Given the description of an element on the screen output the (x, y) to click on. 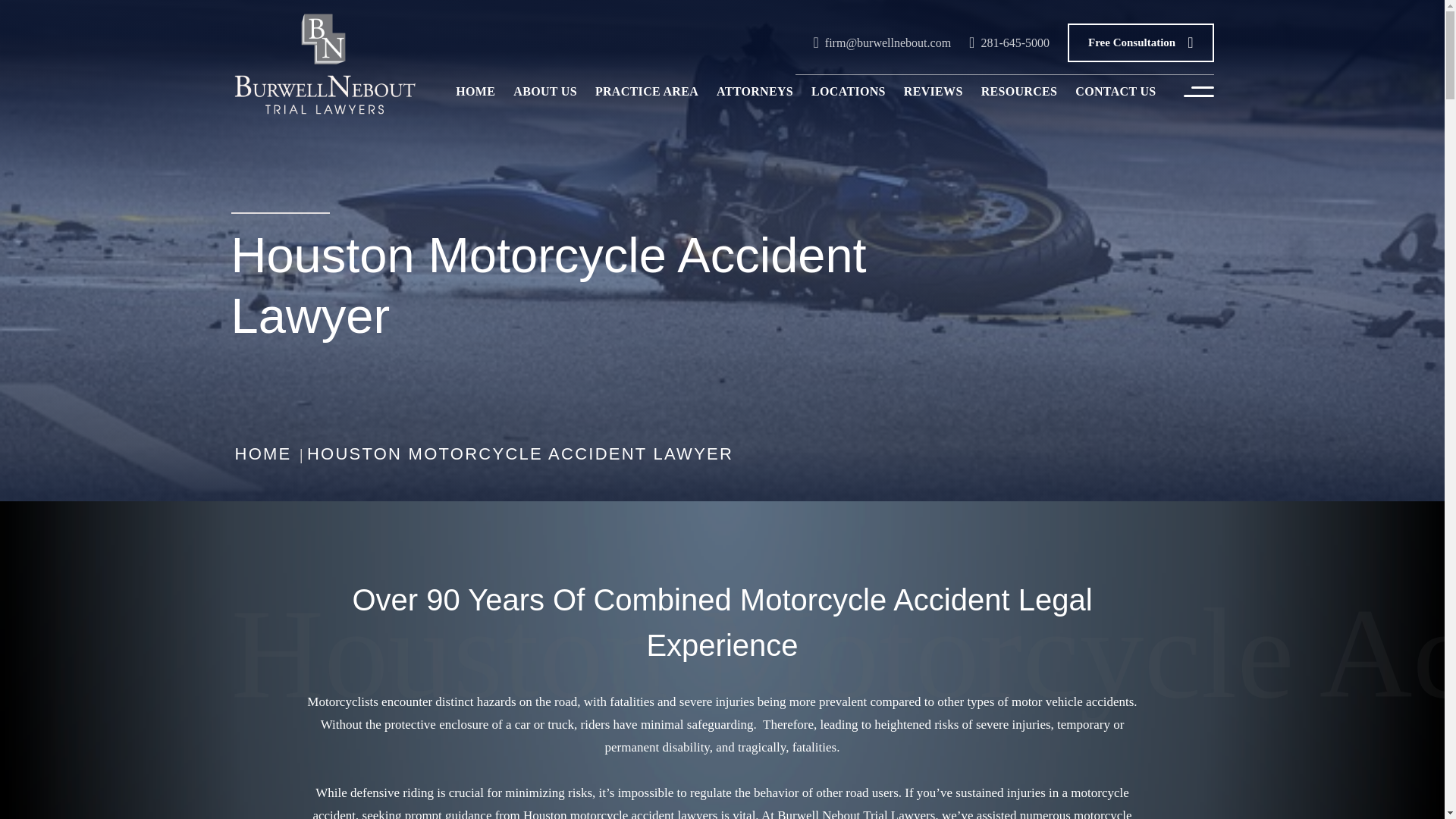
Free Consultation (1139, 41)
ABOUT US (545, 91)
ATTORNEYS (754, 91)
RESOURCES (1019, 91)
REVIEWS (933, 91)
PRACTICE AREA (647, 91)
CONTACT US (1115, 91)
LOCATIONS (848, 91)
281-645-5000 (1009, 42)
HOME (475, 91)
